Given the description of an element on the screen output the (x, y) to click on. 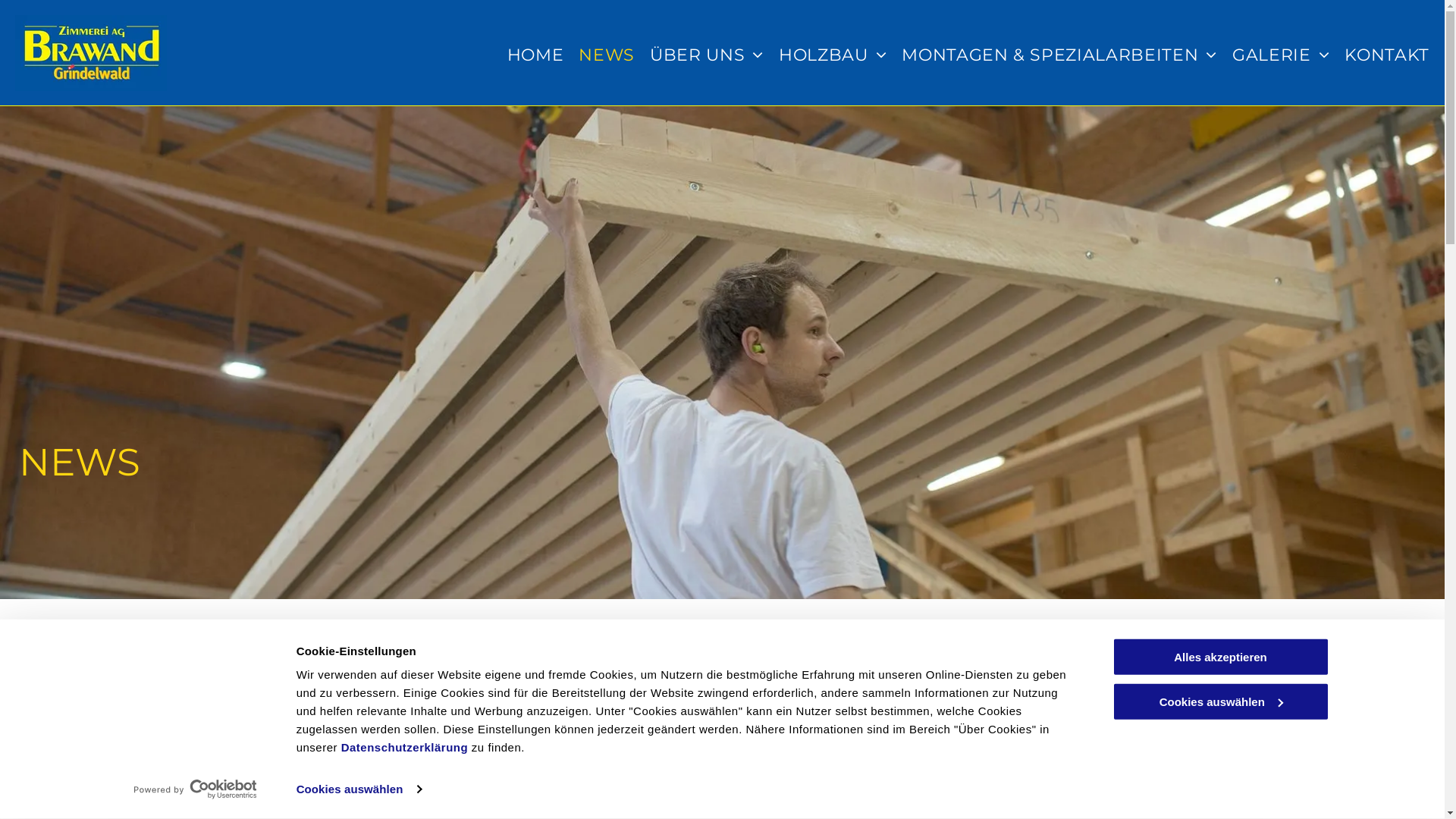
MONTAGEN & SPEZIALARBEITEN Element type: text (1058, 55)
HOLZBAU Element type: text (832, 55)
KONTAKT Element type: text (1386, 55)
GALERIE Element type: text (1280, 55)
Alles akzeptieren Element type: text (1219, 656)
HOME Element type: text (535, 55)
NEWS Element type: text (606, 55)
